Given the description of an element on the screen output the (x, y) to click on. 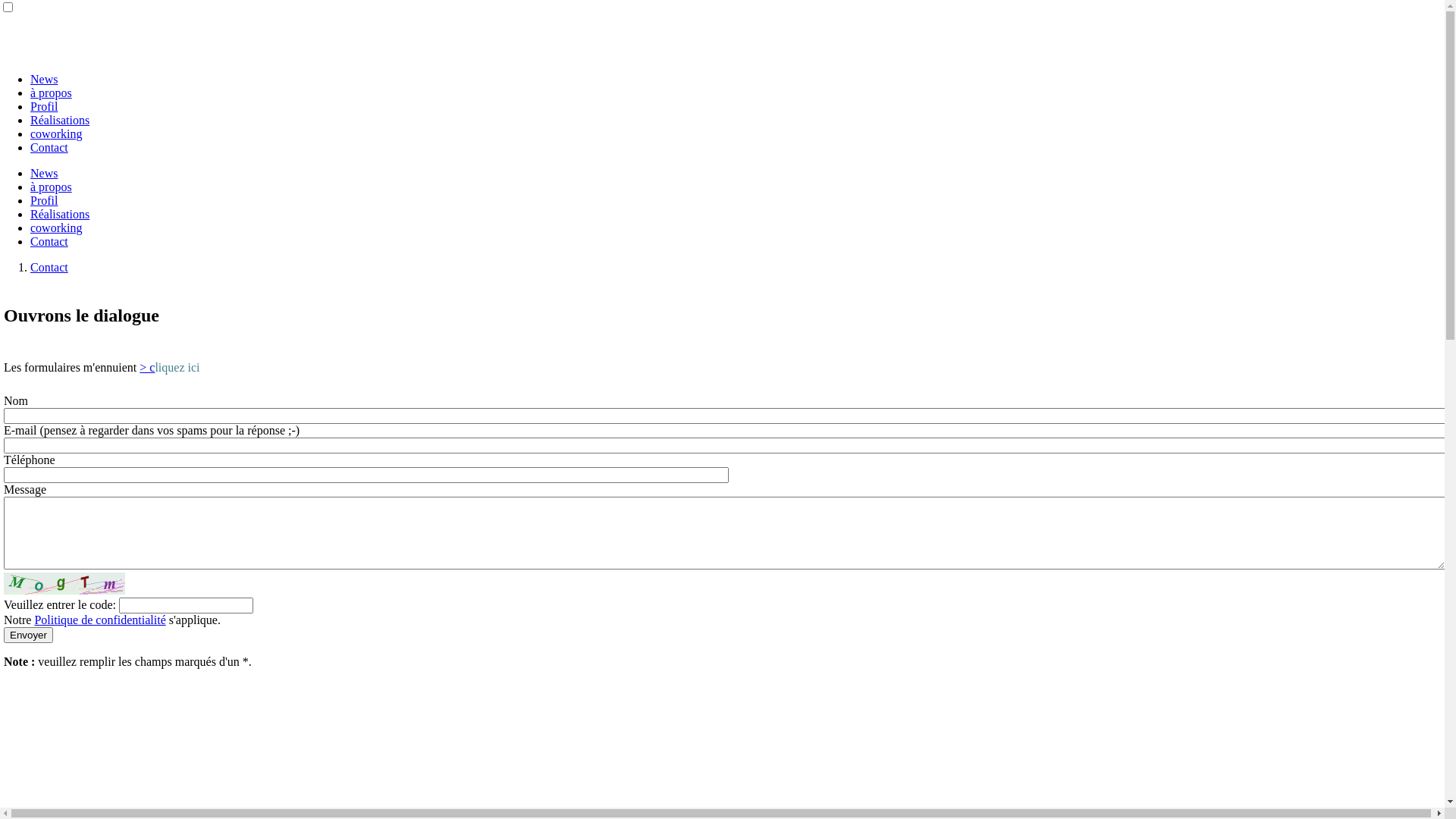
Contact Element type: text (49, 147)
coworking Element type: text (55, 227)
Contact Element type: text (49, 241)
coworking Element type: text (55, 133)
Profil Element type: text (43, 106)
Envoyer Element type: text (28, 635)
News Element type: text (43, 172)
News Element type: text (43, 78)
> c Element type: text (146, 366)
Profil Element type: text (43, 200)
Contact Element type: text (49, 266)
